Given the description of an element on the screen output the (x, y) to click on. 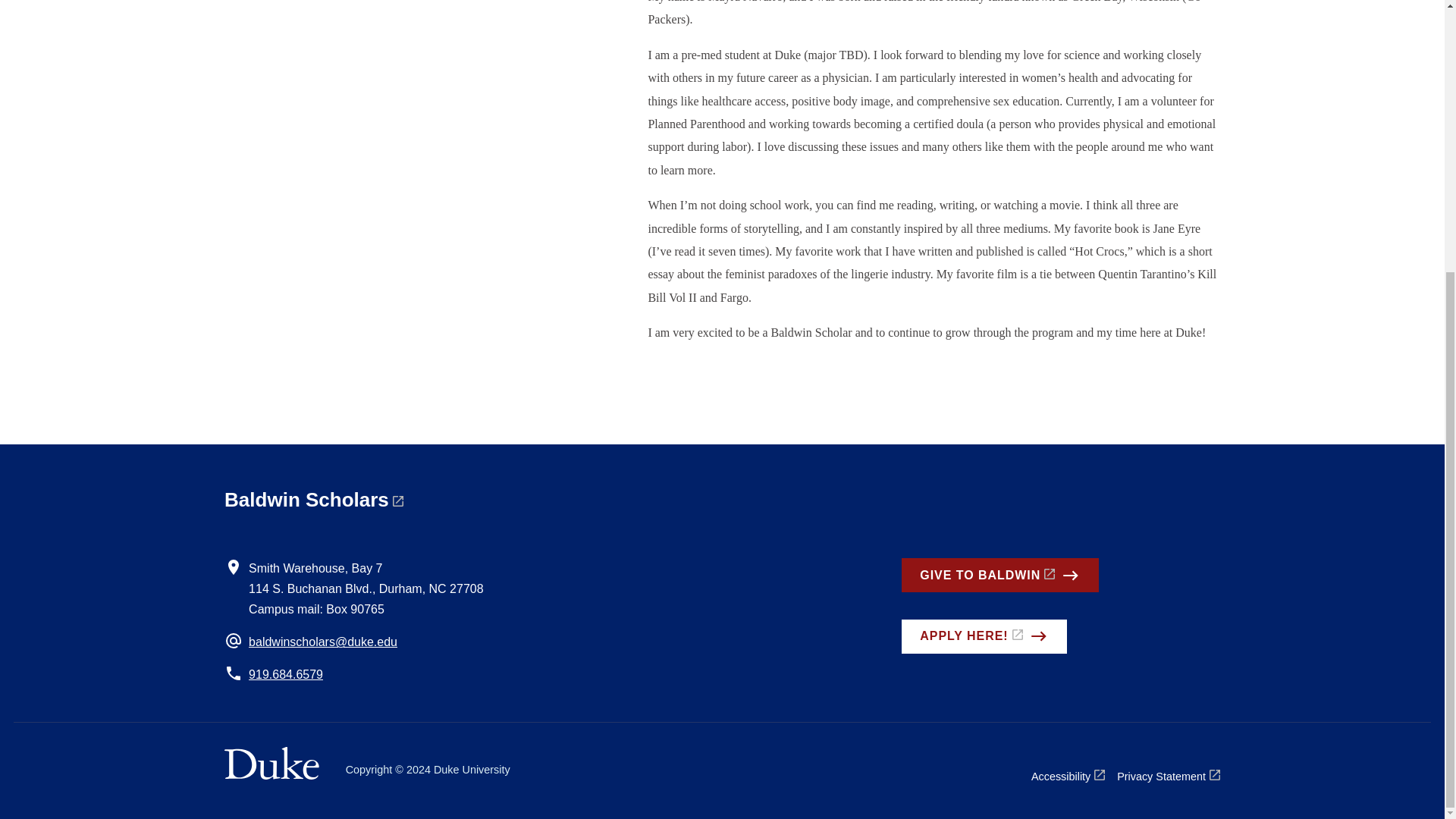
Privacy Statement (1168, 775)
919.684.6579 (285, 674)
Baldwin Scholars (313, 499)
Accessibility (1067, 775)
APPLY HERE! (983, 636)
GIVE TO BALDWIN (1000, 574)
